Given the description of an element on the screen output the (x, y) to click on. 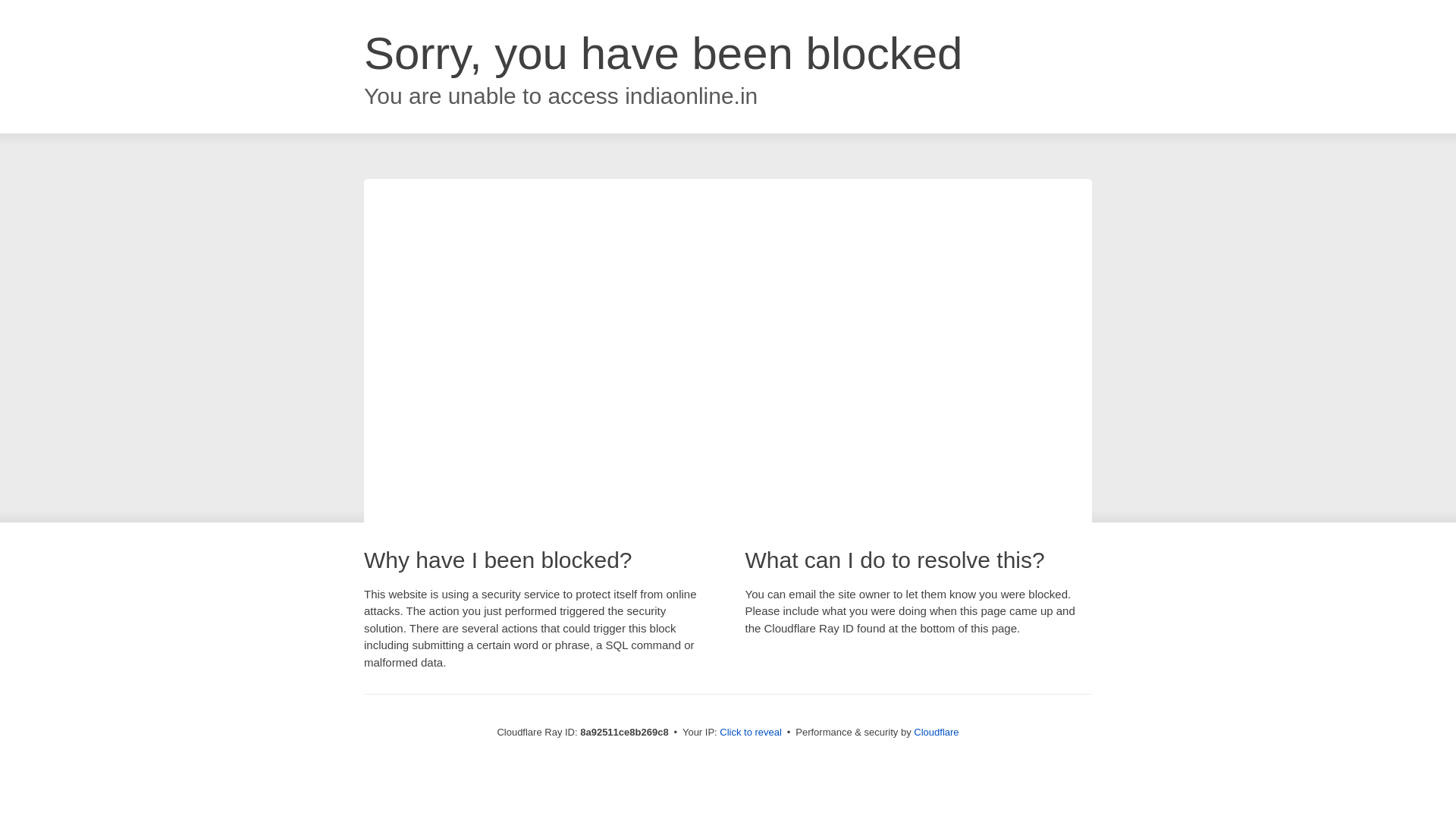
Cloudflare (936, 731)
Click to reveal (750, 732)
